Given the description of an element on the screen output the (x, y) to click on. 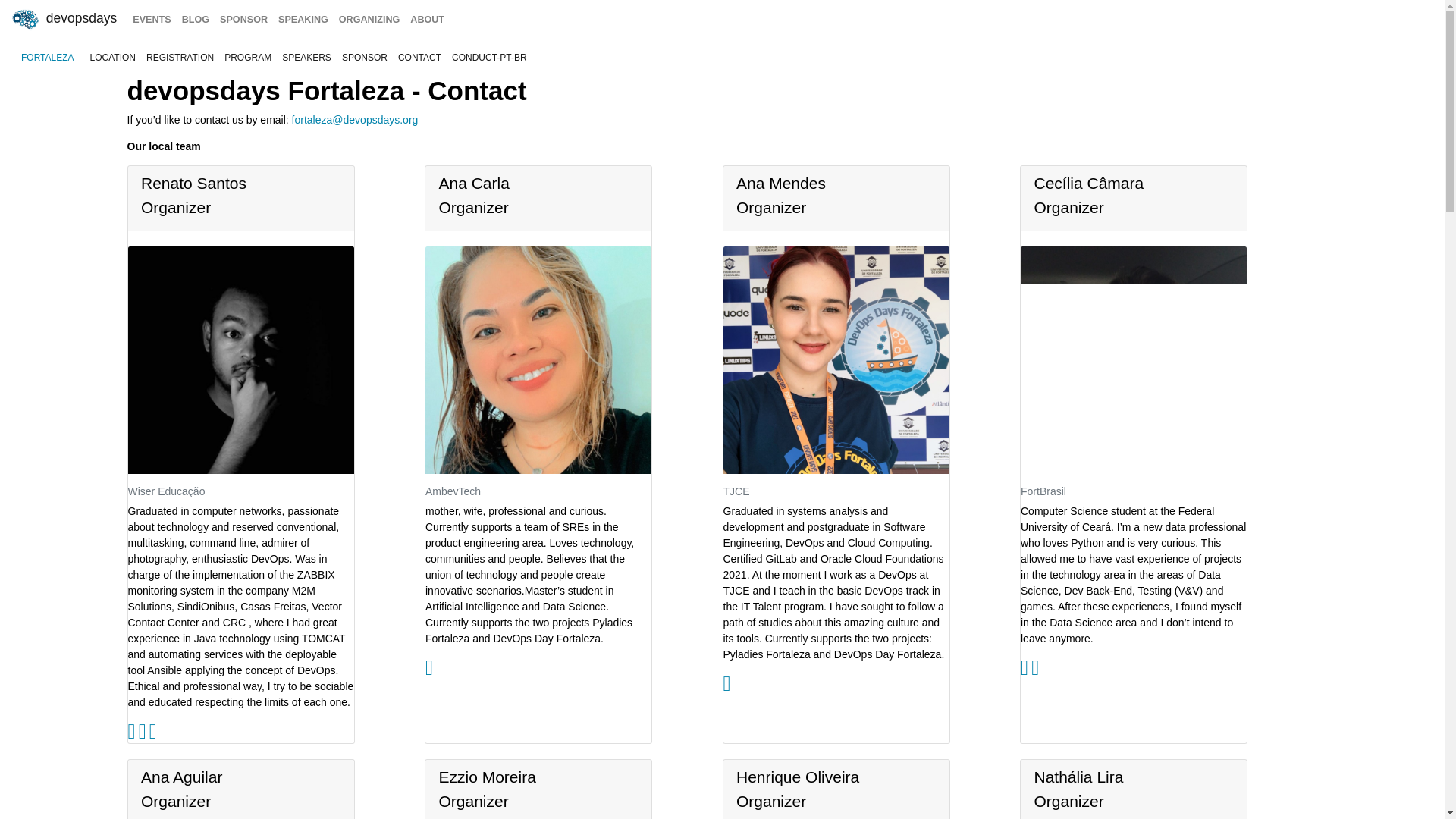
BLOG (195, 19)
devopsdays (63, 19)
LOCATION (112, 57)
CONTACT (419, 57)
ABOUT (426, 19)
REGISTRATION (180, 57)
FORTALEZA (47, 57)
PROGRAM (247, 57)
EVENTS (152, 19)
CONDUCT-PT-BR (489, 57)
SPEAKING (303, 19)
ORGANIZING (368, 19)
SPEAKERS (306, 57)
SPONSOR (243, 19)
SPONSOR (364, 57)
